Given the description of an element on the screen output the (x, y) to click on. 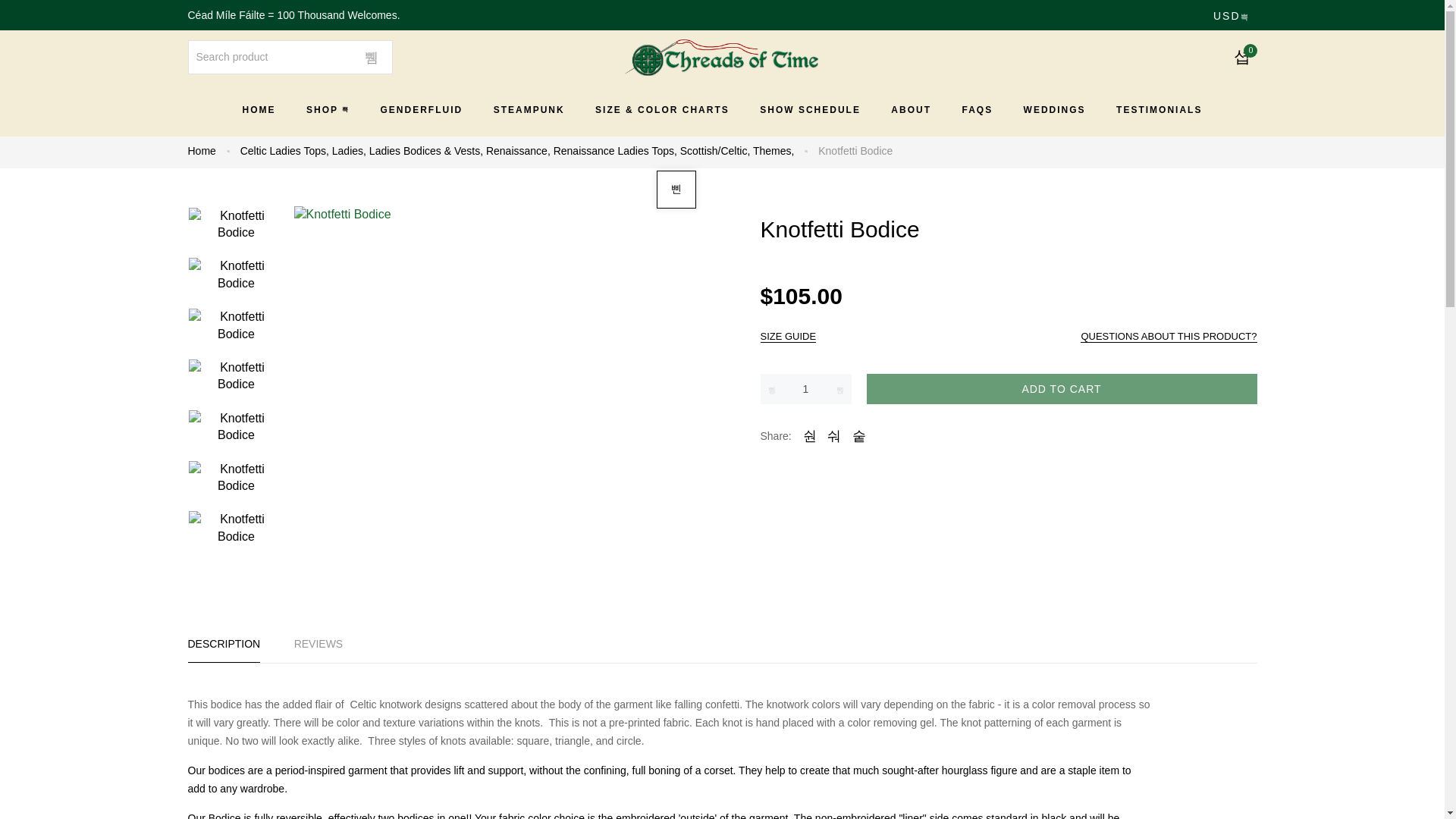
vimeo (858, 435)
STEAMPUNK (529, 109)
ABOUT (910, 109)
1 (805, 388)
Twitter (810, 435)
SHOW SCHEDULE (810, 109)
0 (1241, 56)
WEDDINGS (1054, 109)
SHOP (327, 109)
GENDERFLUID (421, 109)
HOME (258, 109)
Search (370, 56)
FAQS (976, 109)
Back to the frontpage (201, 150)
Facebook (834, 435)
